Given the description of an element on the screen output the (x, y) to click on. 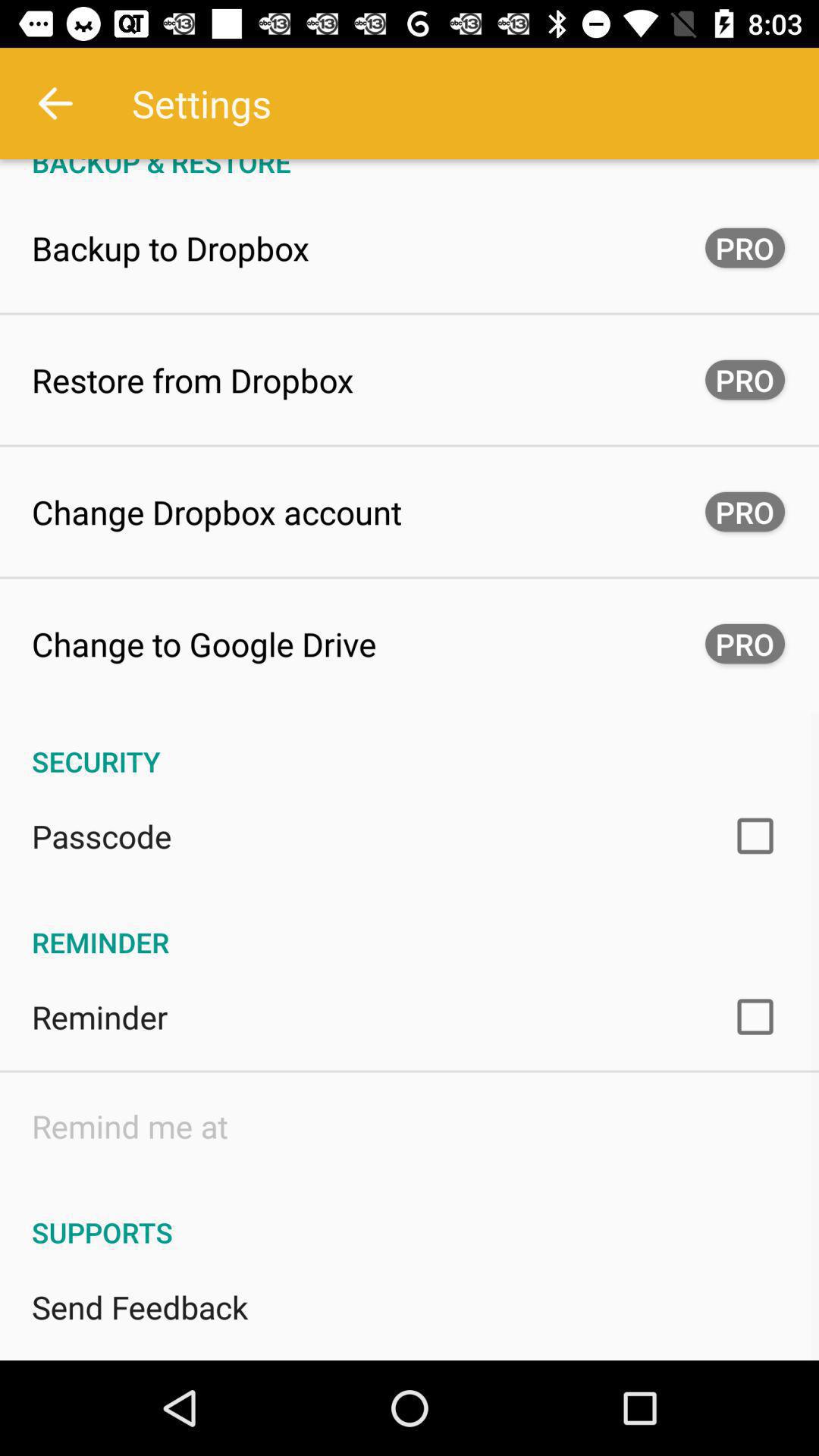
turn on the item below the change dropbox account (203, 643)
